Given the description of an element on the screen output the (x, y) to click on. 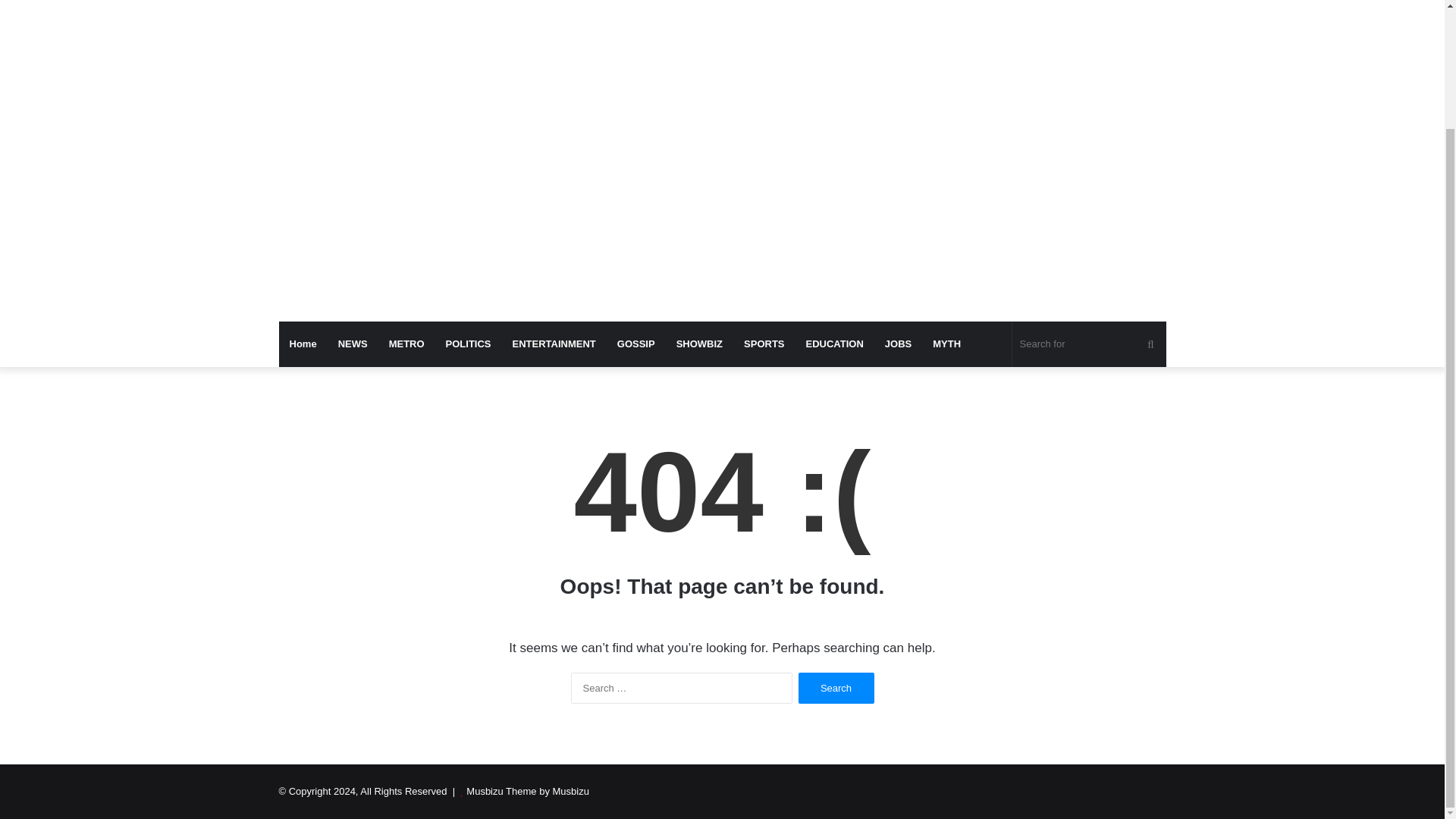
NEWS (352, 343)
MYTH (946, 343)
Musbizu Theme by Musbizu (527, 790)
SPORTS (763, 343)
METRO (406, 343)
Search (835, 687)
Search (835, 687)
Search (835, 687)
SHOWBIZ (699, 343)
Home (303, 343)
ENTERTAINMENT (554, 343)
JOBS (898, 343)
POLITICS (468, 343)
My Blog (419, 4)
